Given the description of an element on the screen output the (x, y) to click on. 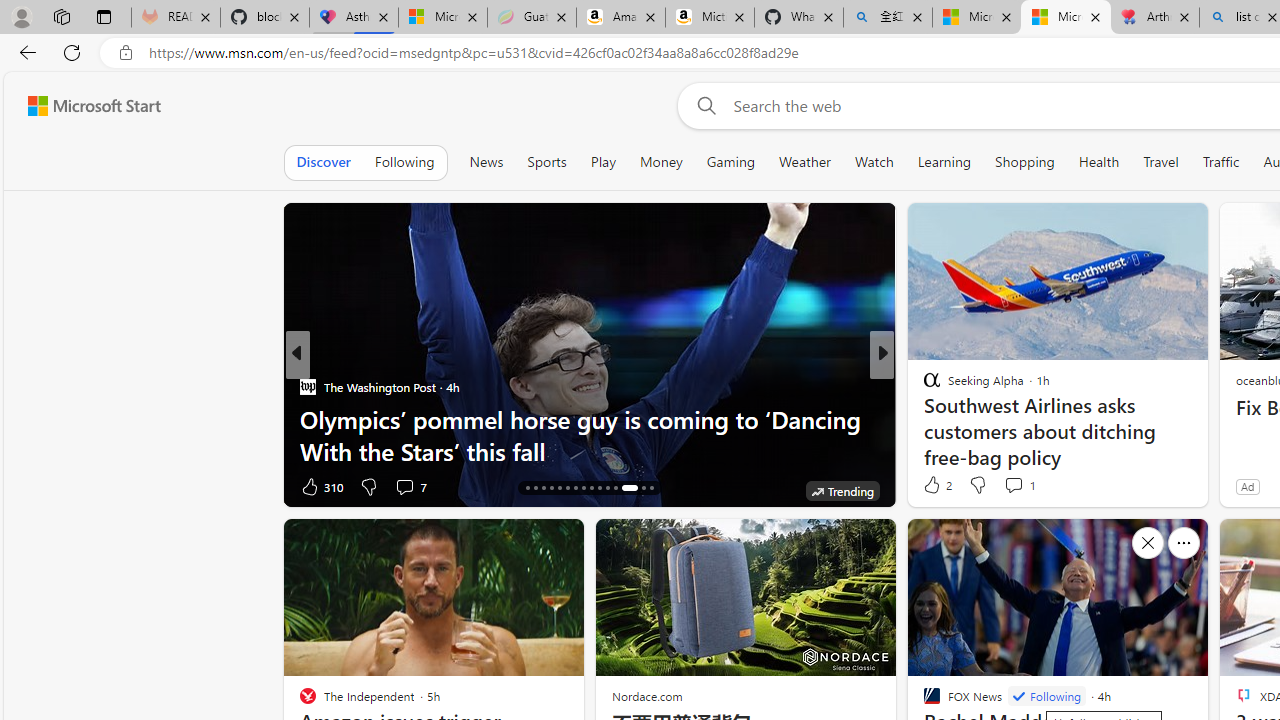
Play (603, 162)
Discover (323, 162)
Learning (944, 162)
Microsoft-Report a Concern to Bing (443, 17)
AutomationID: tab-26 (606, 487)
Traffic (1220, 162)
Gaming (730, 162)
Ad (1247, 486)
View comments 3 Comment (403, 486)
AutomationID: tab-18 (542, 487)
